Given the description of an element on the screen output the (x, y) to click on. 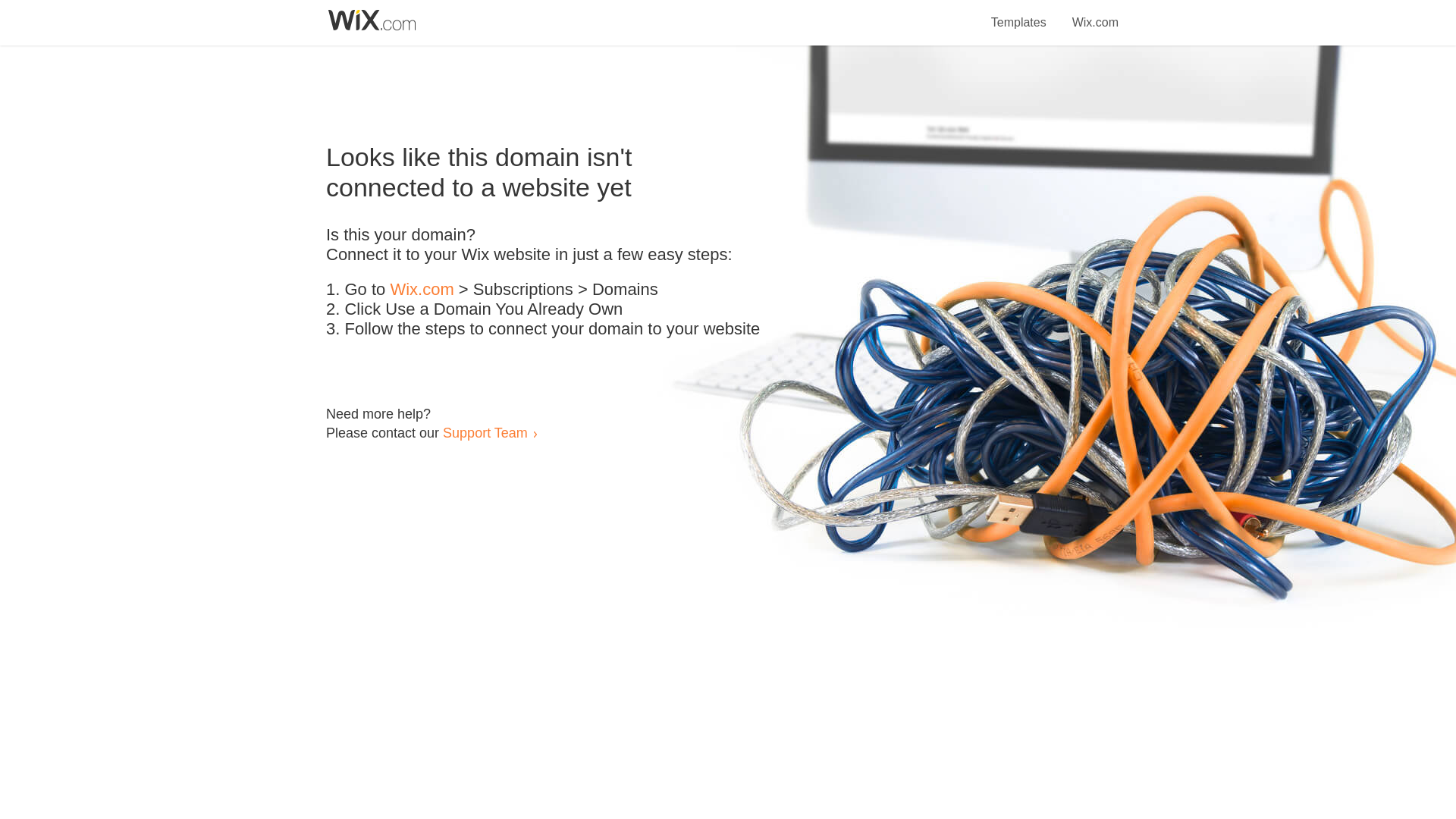
Templates (1018, 14)
Wix.com (1095, 14)
Wix.com (421, 289)
Support Team (484, 432)
